Given the description of an element on the screen output the (x, y) to click on. 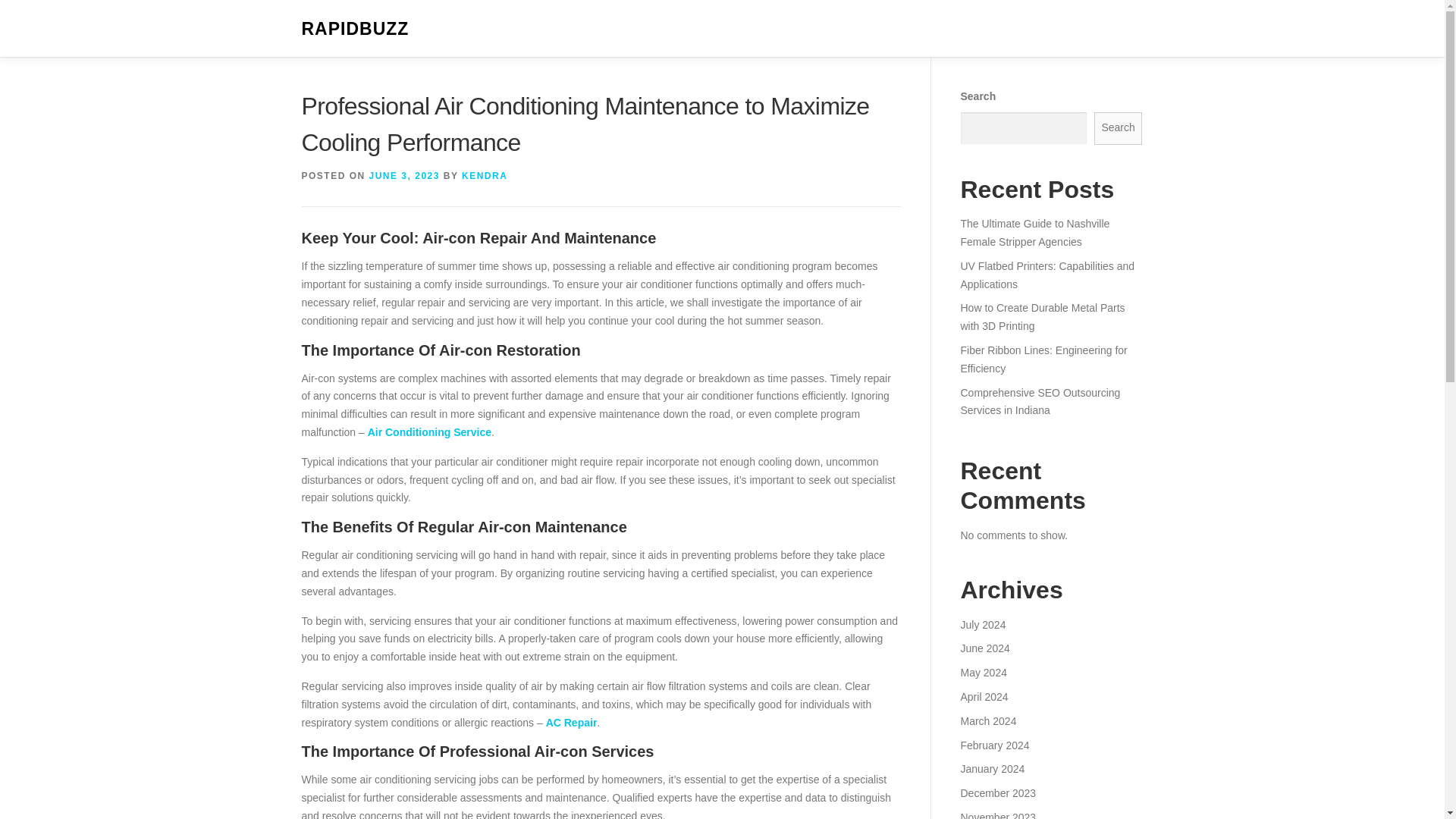
Fiber Ribbon Lines: Engineering for Efficiency (1042, 358)
July 2024 (982, 624)
Comprehensive SEO Outsourcing Services in Indiana (1039, 401)
Air Conditioning Service (430, 431)
The Ultimate Guide to Nashville Female Stripper Agencies (1034, 232)
AC Repair (571, 722)
May 2024 (982, 672)
March 2024 (987, 720)
June 2024 (984, 648)
How to Create Durable Metal Parts with 3D Printing (1041, 317)
February 2024 (994, 744)
RAPIDBUZZ (355, 29)
April 2024 (983, 696)
JUNE 3, 2023 (404, 175)
Search (1118, 128)
